Given the description of an element on the screen output the (x, y) to click on. 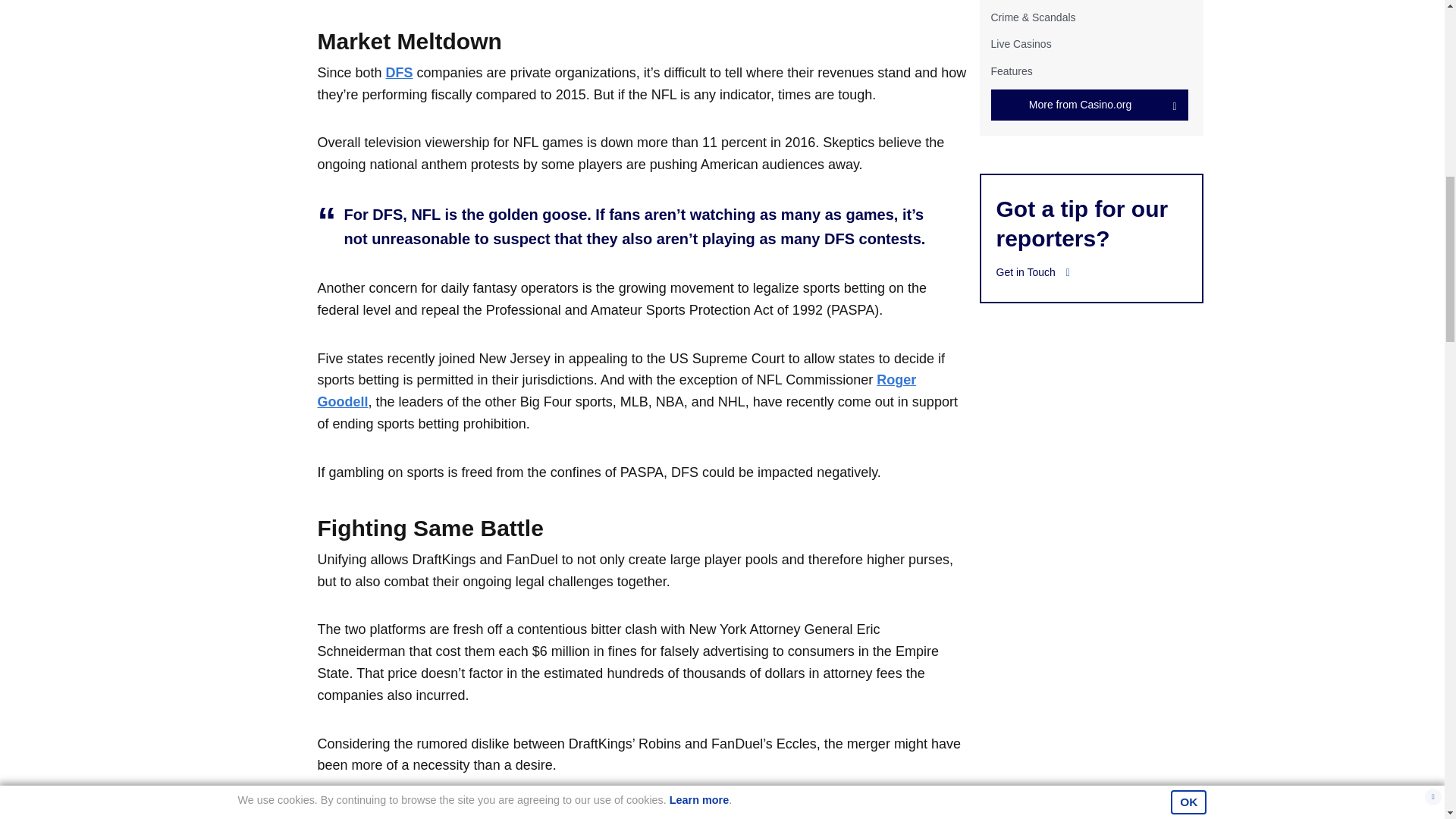
Features (1011, 70)
Live Casinos (1020, 43)
DFS (399, 72)
Roger Goodell (616, 390)
